Given the description of an element on the screen output the (x, y) to click on. 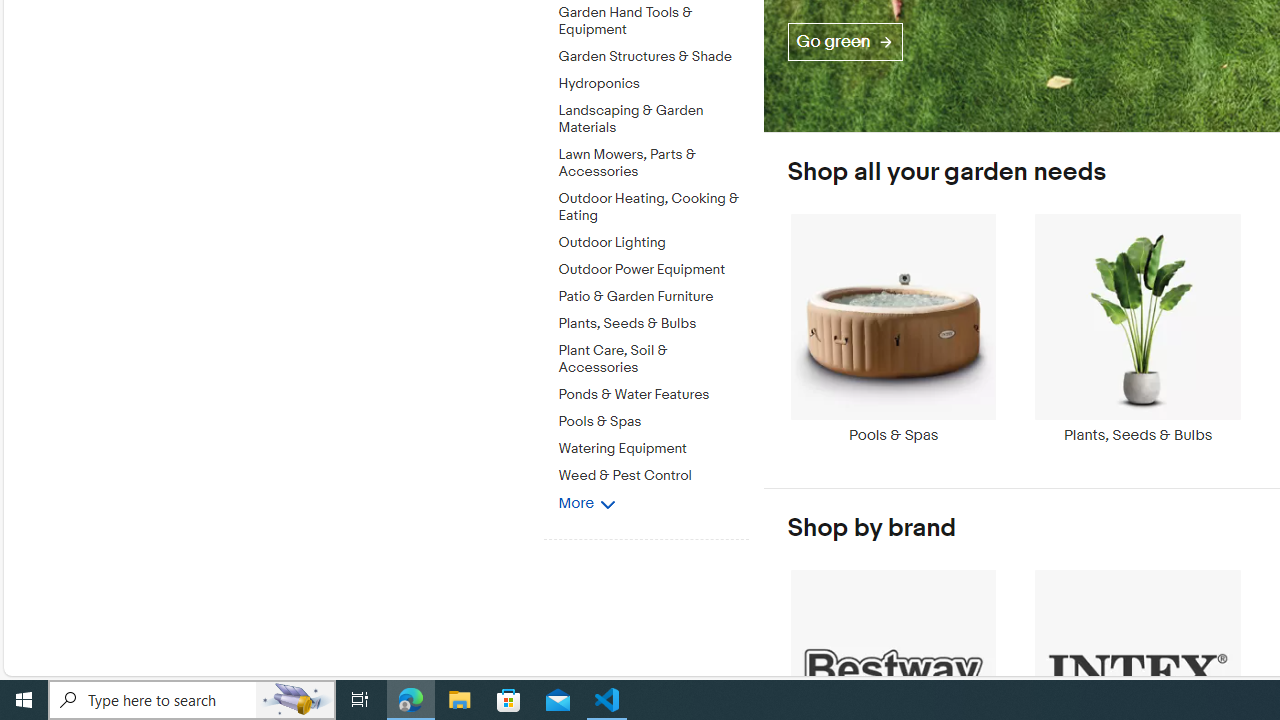
Outdoor Power Equipment (653, 270)
